Given the description of an element on the screen output the (x, y) to click on. 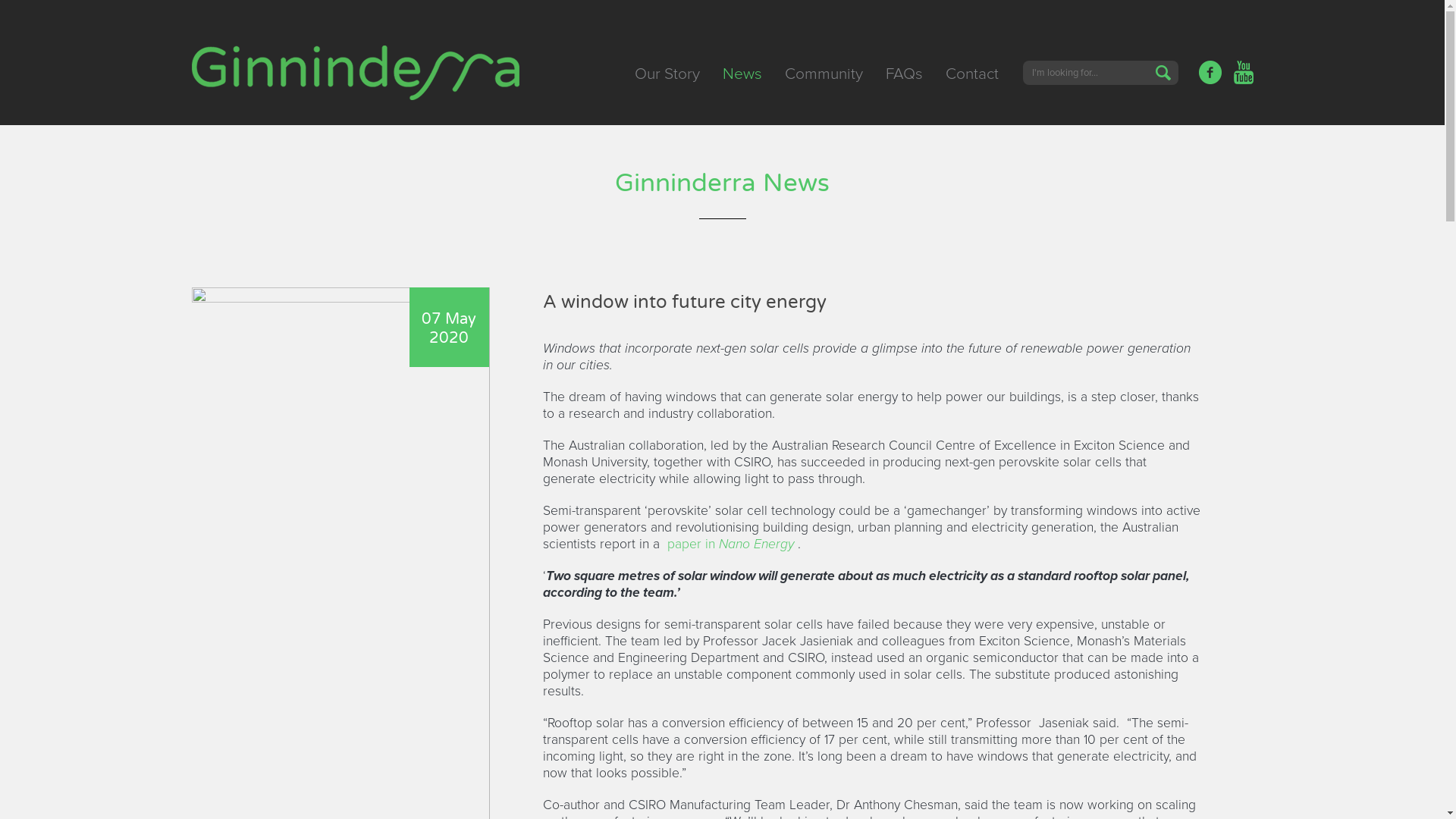
YouTube Element type: text (1241, 72)
Our Story Element type: text (666, 73)
Search for: Element type: hover (1088, 72)
FAQs Element type: text (903, 73)
News Element type: text (741, 73)
Ginninderra Element type: text (355, 73)
Community Element type: text (823, 73)
 paper in Nano Energy Element type: text (729, 544)
Facebook Element type: text (1209, 72)
Contact Element type: text (970, 73)
